Given the description of an element on the screen output the (x, y) to click on. 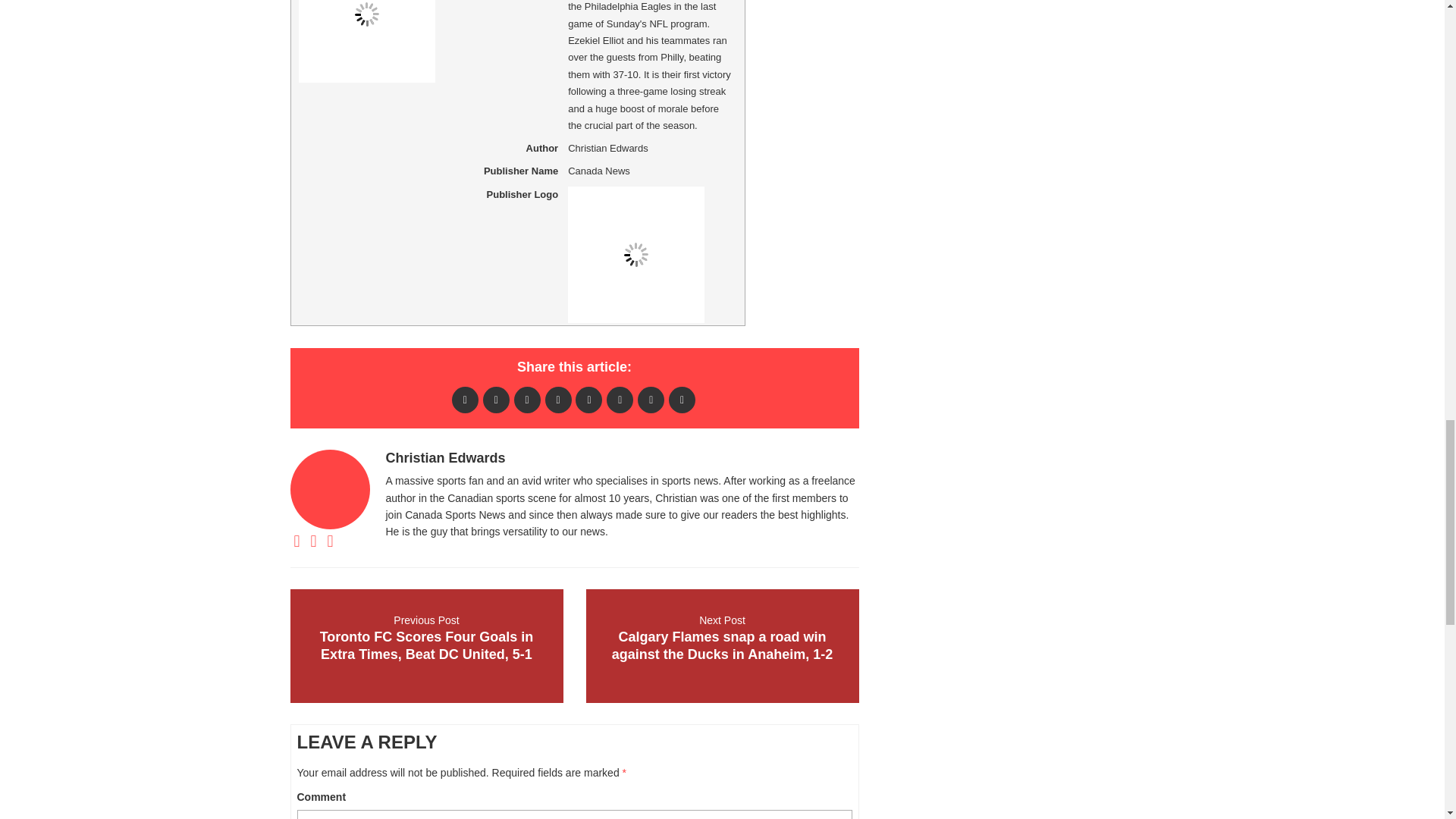
Posts by Christian Edwards (445, 458)
